Given the description of an element on the screen output the (x, y) to click on. 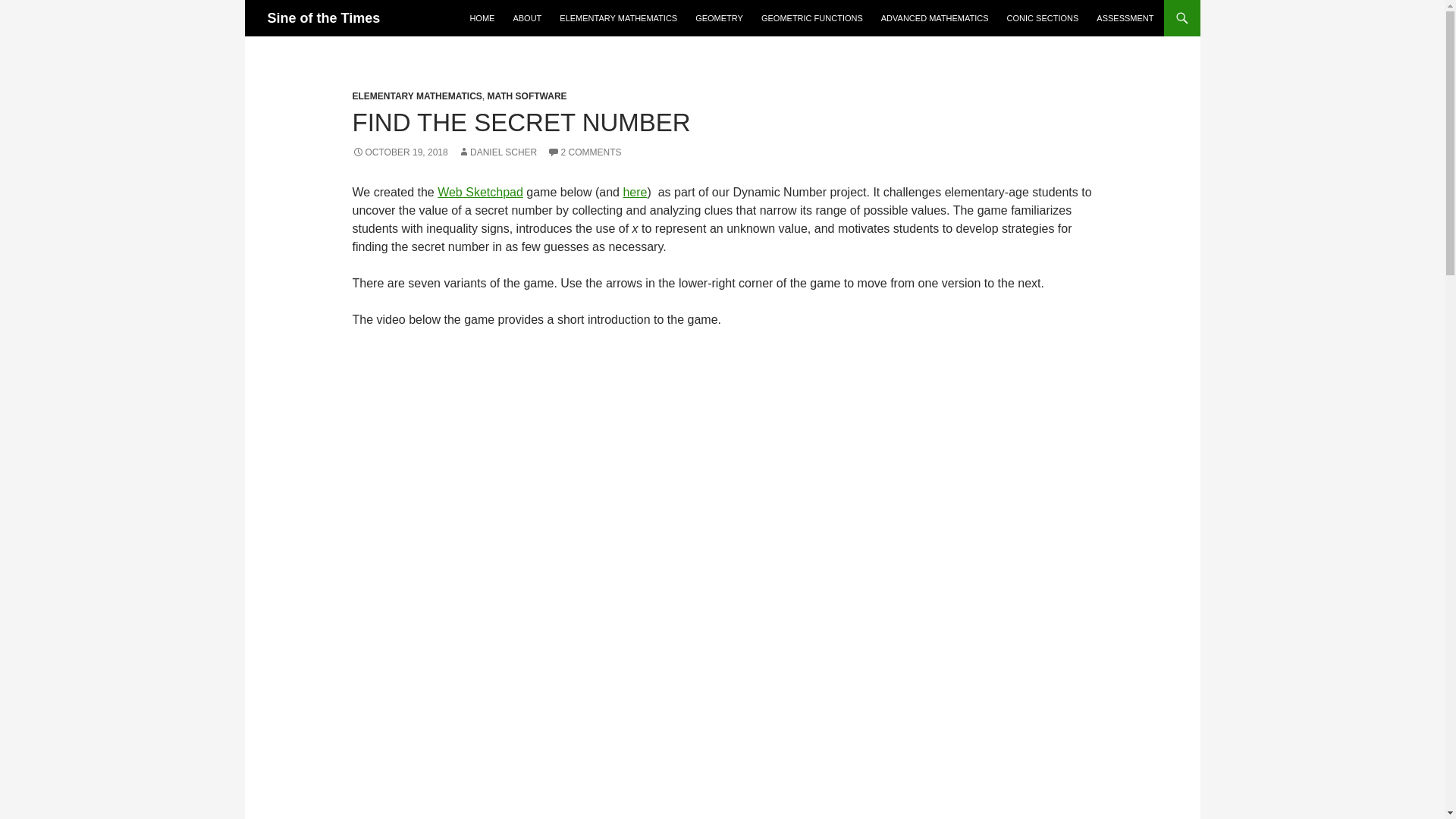
2 COMMENTS (584, 152)
GEOMETRIC FUNCTIONS (812, 18)
ELEMENTARY MATHEMATICS (617, 18)
CONIC SECTIONS (1042, 18)
OCTOBER 19, 2018 (399, 152)
ELEMENTARY MATHEMATICS (416, 95)
ASSESSMENT (1124, 18)
ADVANCED MATHEMATICS (934, 18)
MATH SOFTWARE (526, 95)
Web Sketchpad (480, 192)
